Given the description of an element on the screen output the (x, y) to click on. 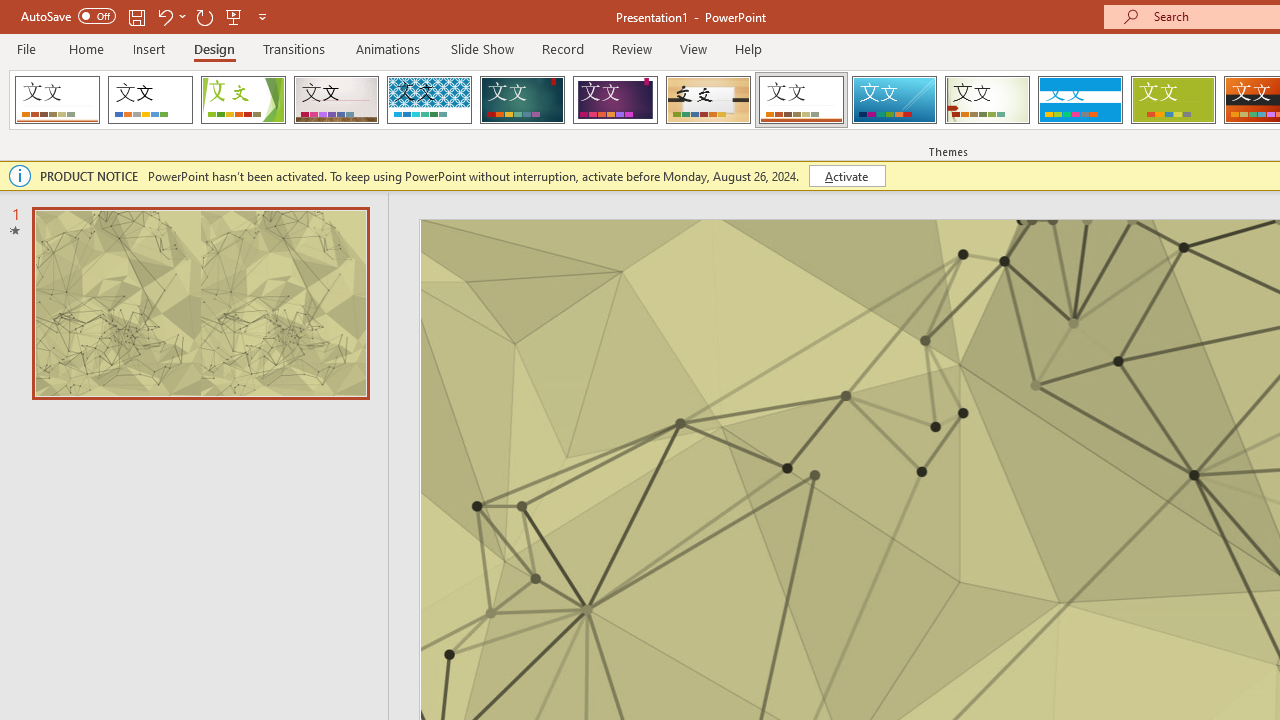
Facet (243, 100)
Office Theme (150, 100)
Basis (1172, 100)
Organic (708, 100)
